Given the description of an element on the screen output the (x, y) to click on. 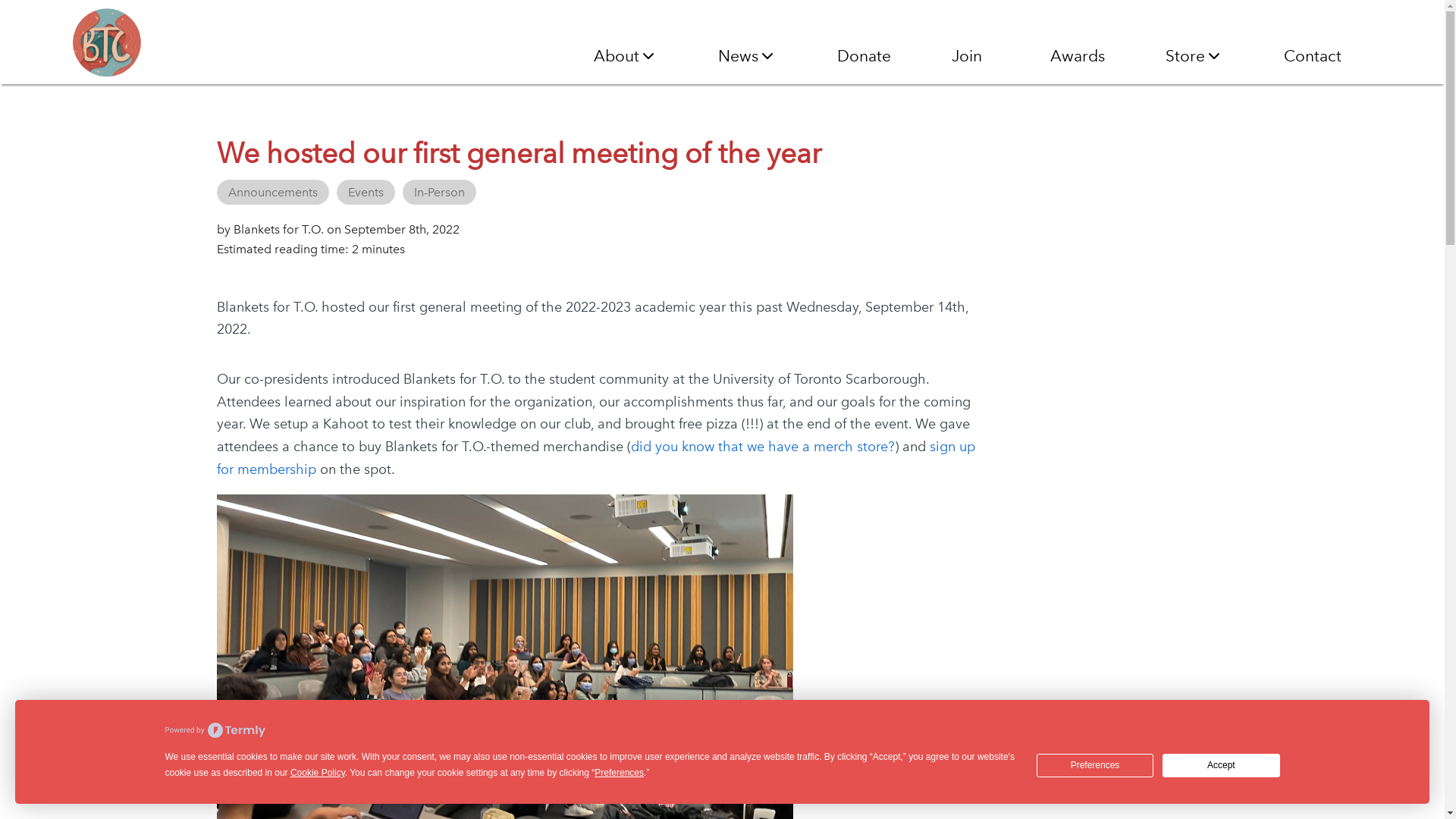
In-Person Element type: text (439, 191)
Store Element type: text (1194, 56)
Contact Element type: text (1312, 56)
Preferences Element type: text (1094, 765)
Donate Element type: text (864, 56)
sign up for membership Element type: text (595, 457)
Announcements Element type: text (272, 191)
Accept Element type: text (1220, 765)
About Element type: text (625, 56)
News Element type: text (747, 56)
Awards Element type: text (1077, 56)
did you know that we have a merch store? Element type: text (762, 446)
Join Element type: text (970, 56)
Events Element type: text (365, 191)
